Given the description of an element on the screen output the (x, y) to click on. 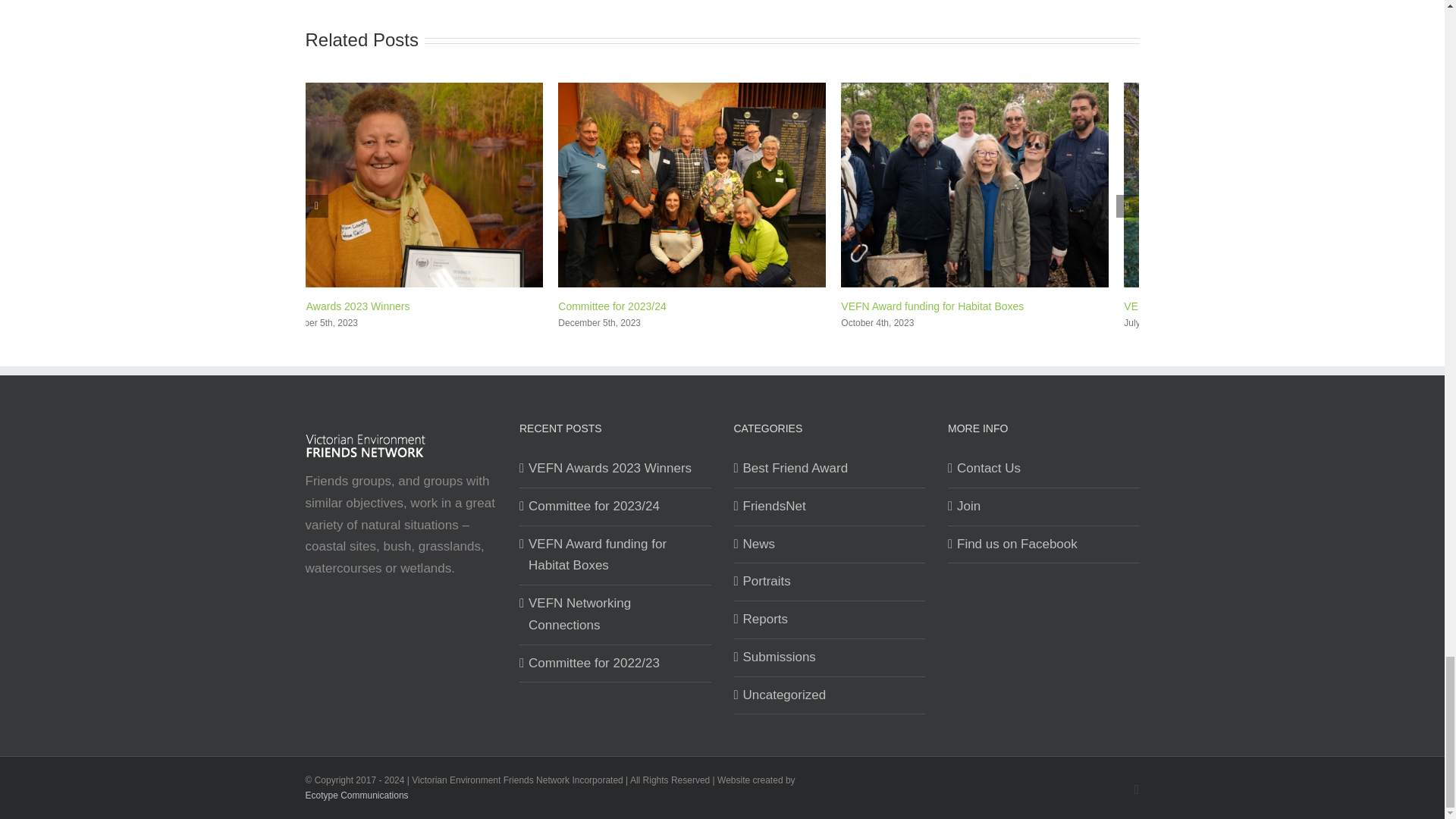
VEFN Awards 2023 Winners (342, 306)
VEFN Award funding for Habitat Boxes (932, 306)
VEFN Networking Connections (1196, 306)
